Given the description of an element on the screen output the (x, y) to click on. 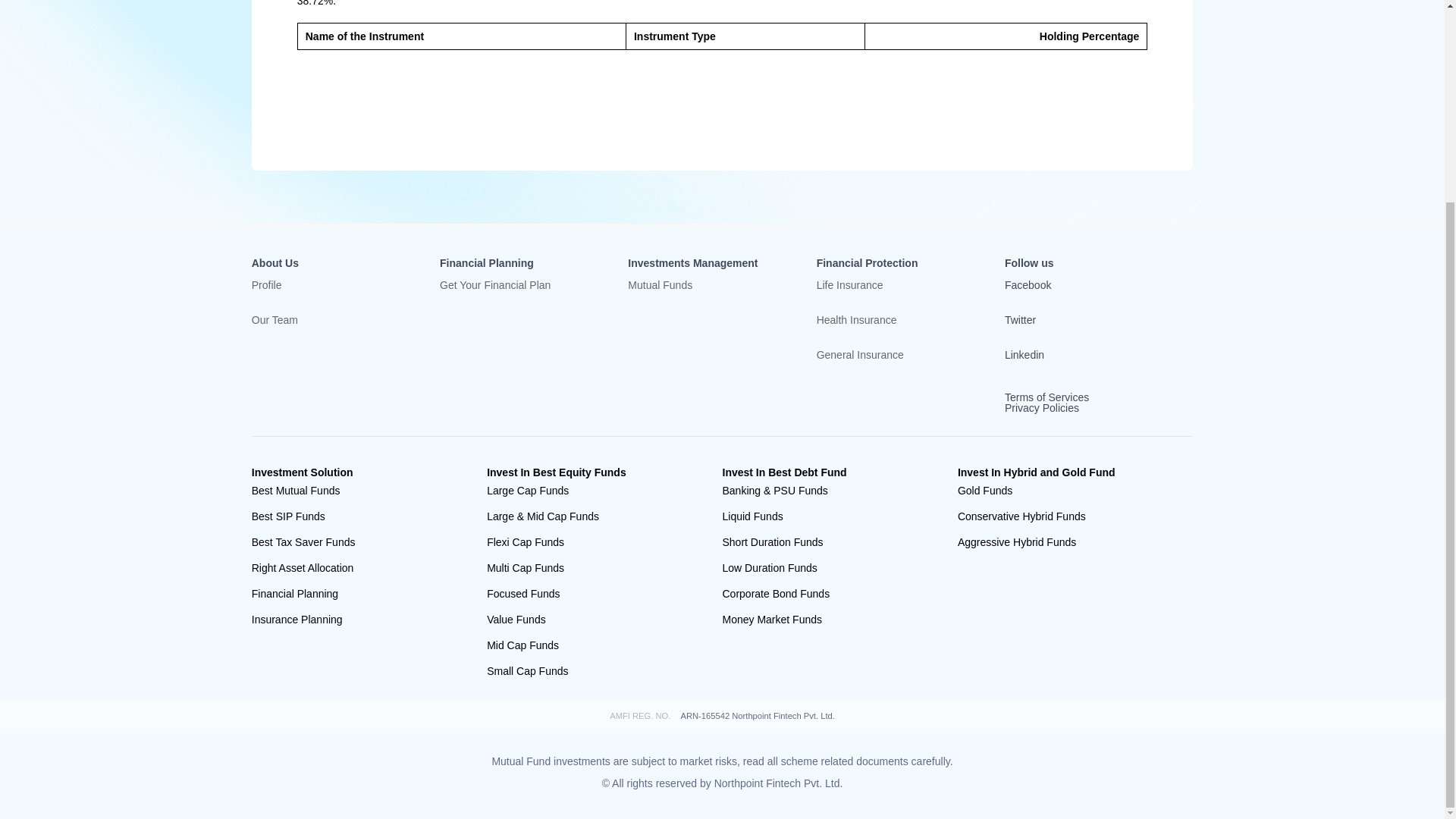
Linkedin (1075, 354)
Health Insurance (898, 331)
Right Asset Allocation (357, 567)
Best SIP Funds (357, 516)
Flexi Cap Funds (592, 542)
Get Your Financial Plan (522, 297)
Twitter (1075, 319)
Best Mutual Funds (357, 490)
Multi Cap Funds (592, 567)
Financial Planning (357, 593)
Best Tax Saver Funds (357, 542)
Focused Funds (592, 593)
Value Funds (592, 619)
Profile (333, 297)
Our Team (333, 331)
